Given the description of an element on the screen output the (x, y) to click on. 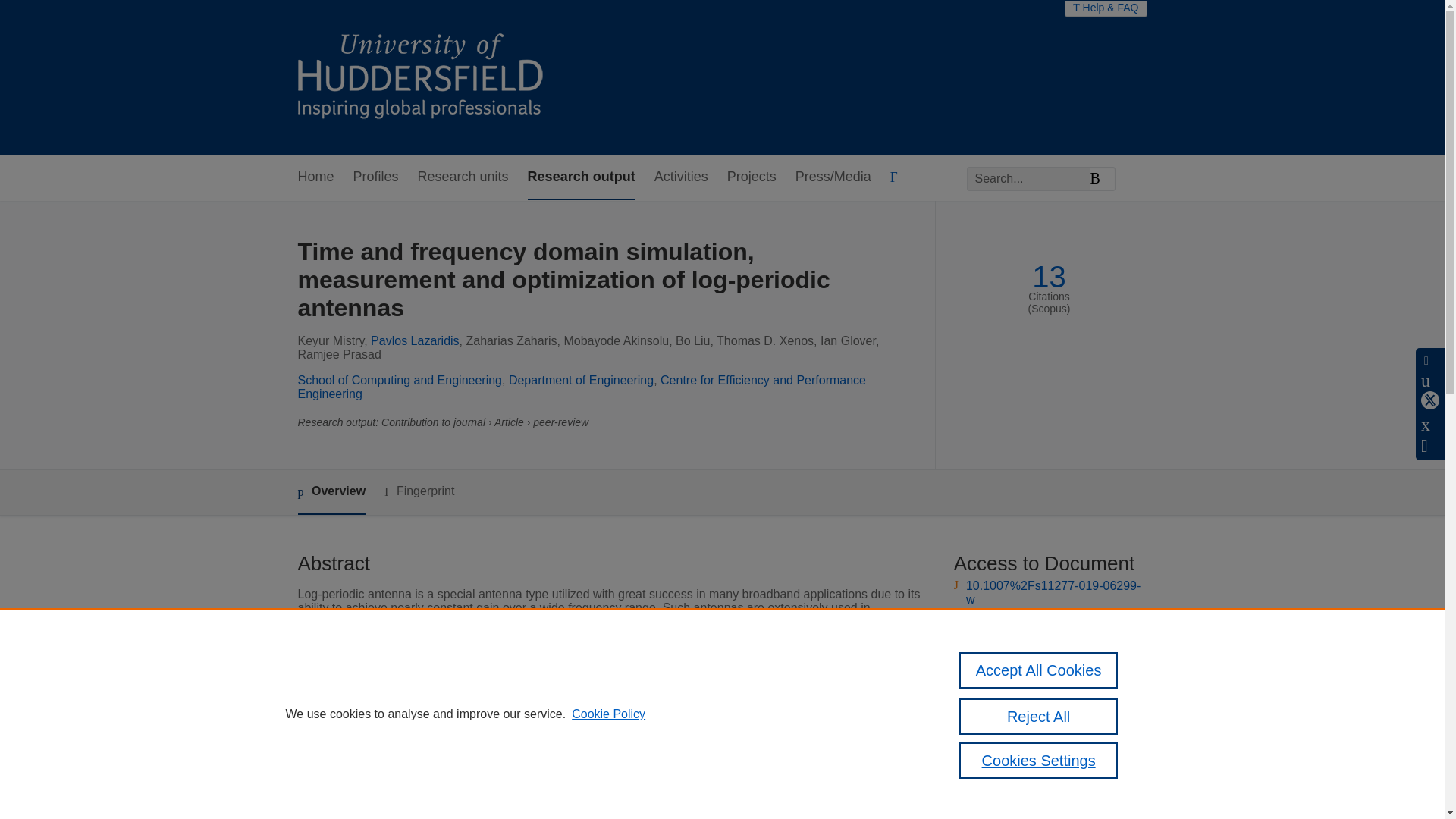
Research output (580, 177)
Link to publication in Scopus (1045, 672)
Pavlos Lazaridis (415, 340)
University of Huddersfield Research Portal Home (431, 77)
Profiles (375, 177)
Department of Engineering (580, 379)
Overview (331, 492)
13 (1048, 276)
Activities (680, 177)
CC BY (1020, 614)
